Given the description of an element on the screen output the (x, y) to click on. 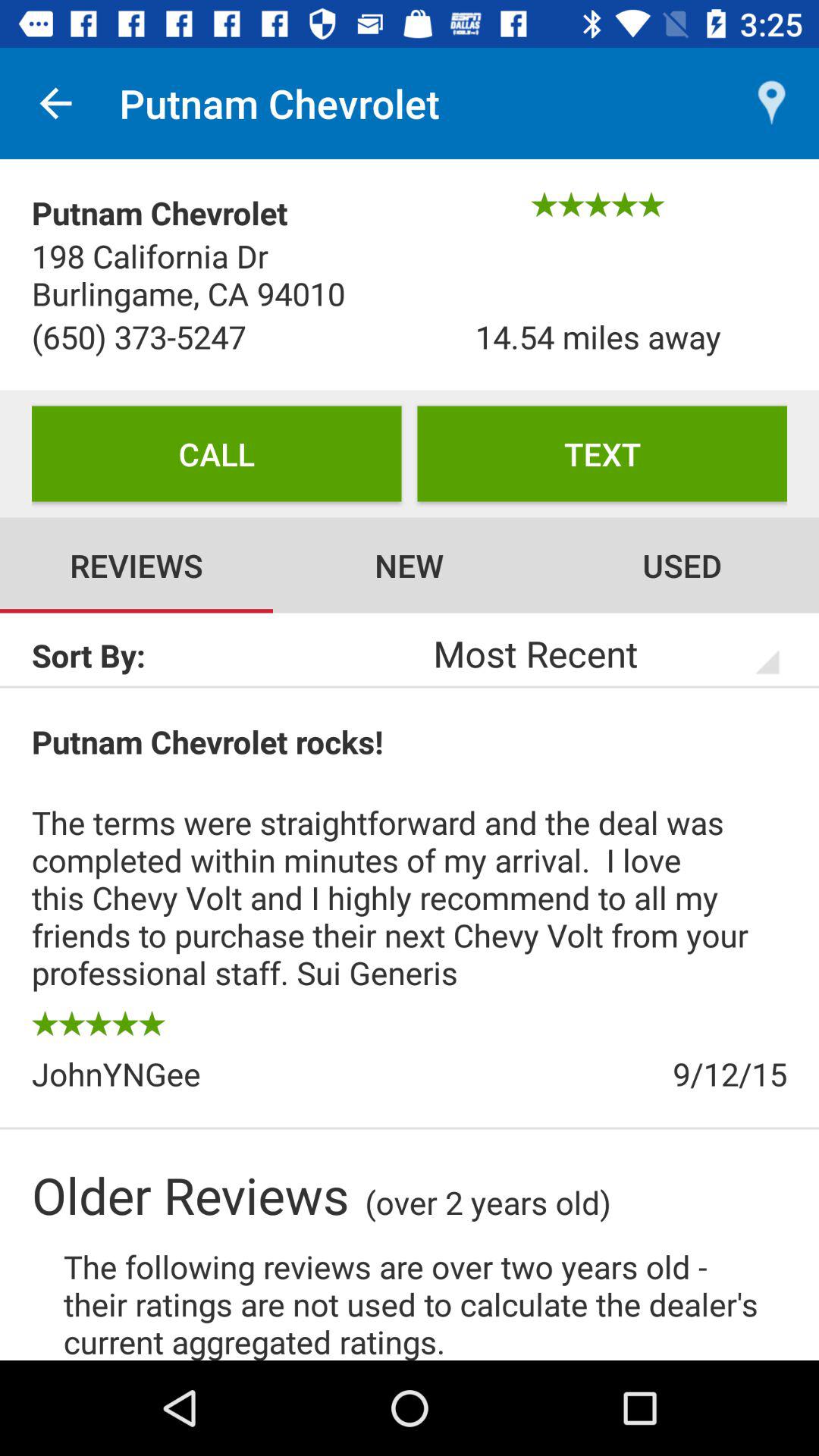
jump to the 9/12/15 icon (598, 1073)
